Given the description of an element on the screen output the (x, y) to click on. 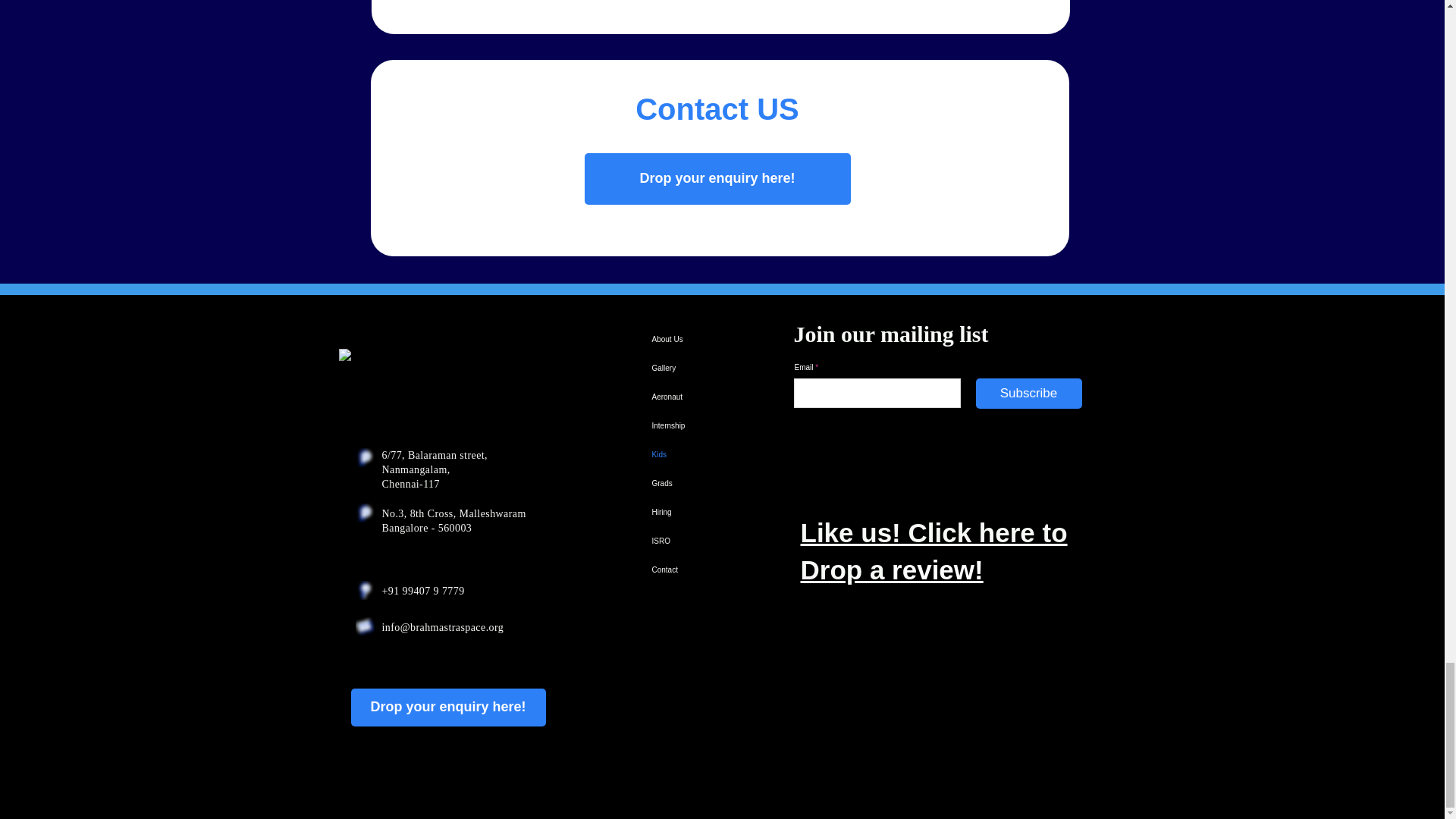
Gallery (686, 368)
Kids (686, 454)
Aeronaut (686, 397)
About Us (686, 339)
Internship (686, 425)
Drop your enquiry here! (716, 178)
